Given the description of an element on the screen output the (x, y) to click on. 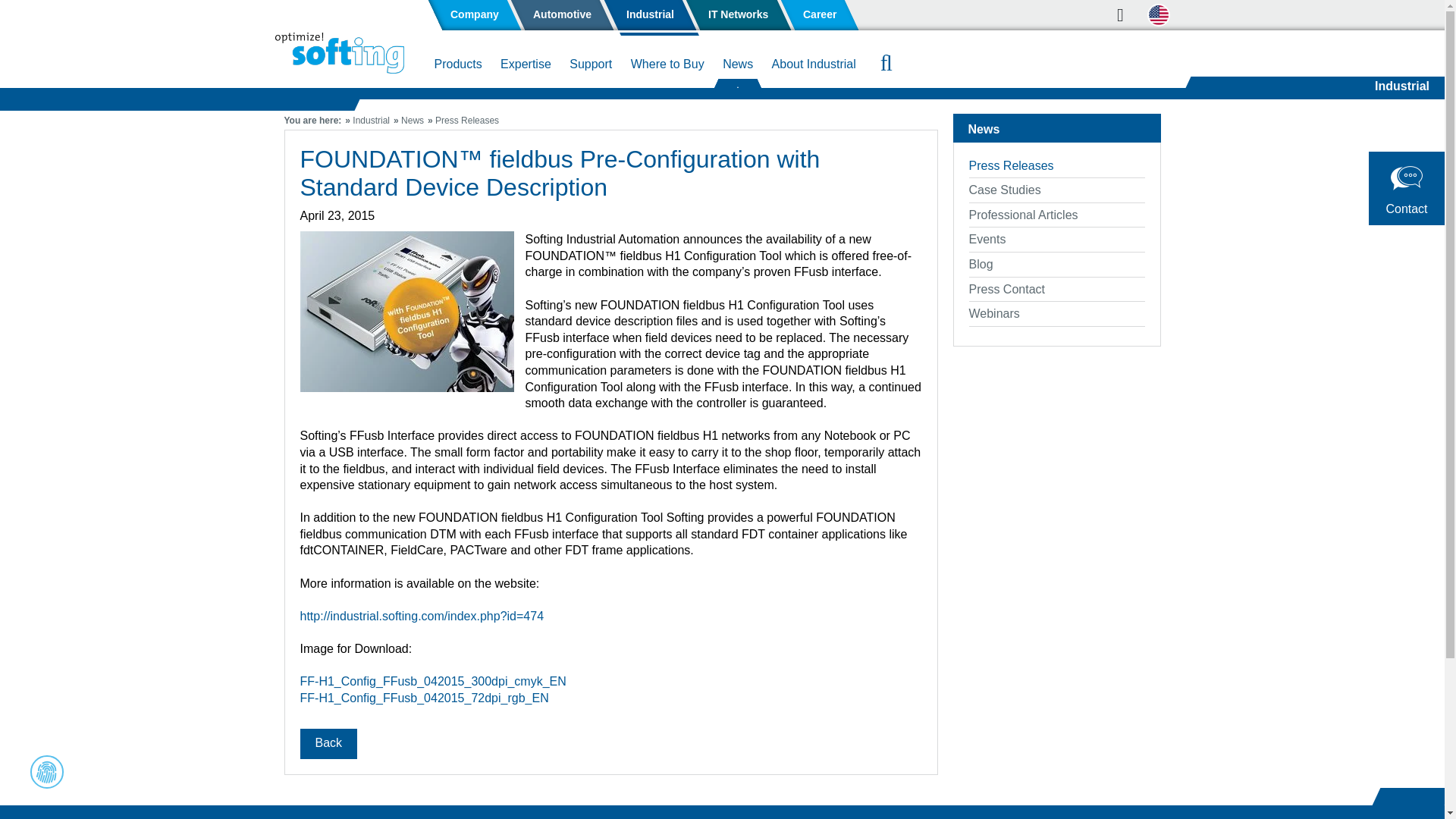
Gateways (380, 96)
IT Networks (738, 15)
USA (1160, 15)
Docker Container (835, 96)
Company (474, 15)
Industrial (649, 15)
Career (818, 15)
Automotive (562, 15)
Products (457, 67)
Home (339, 52)
